Given the description of an element on the screen output the (x, y) to click on. 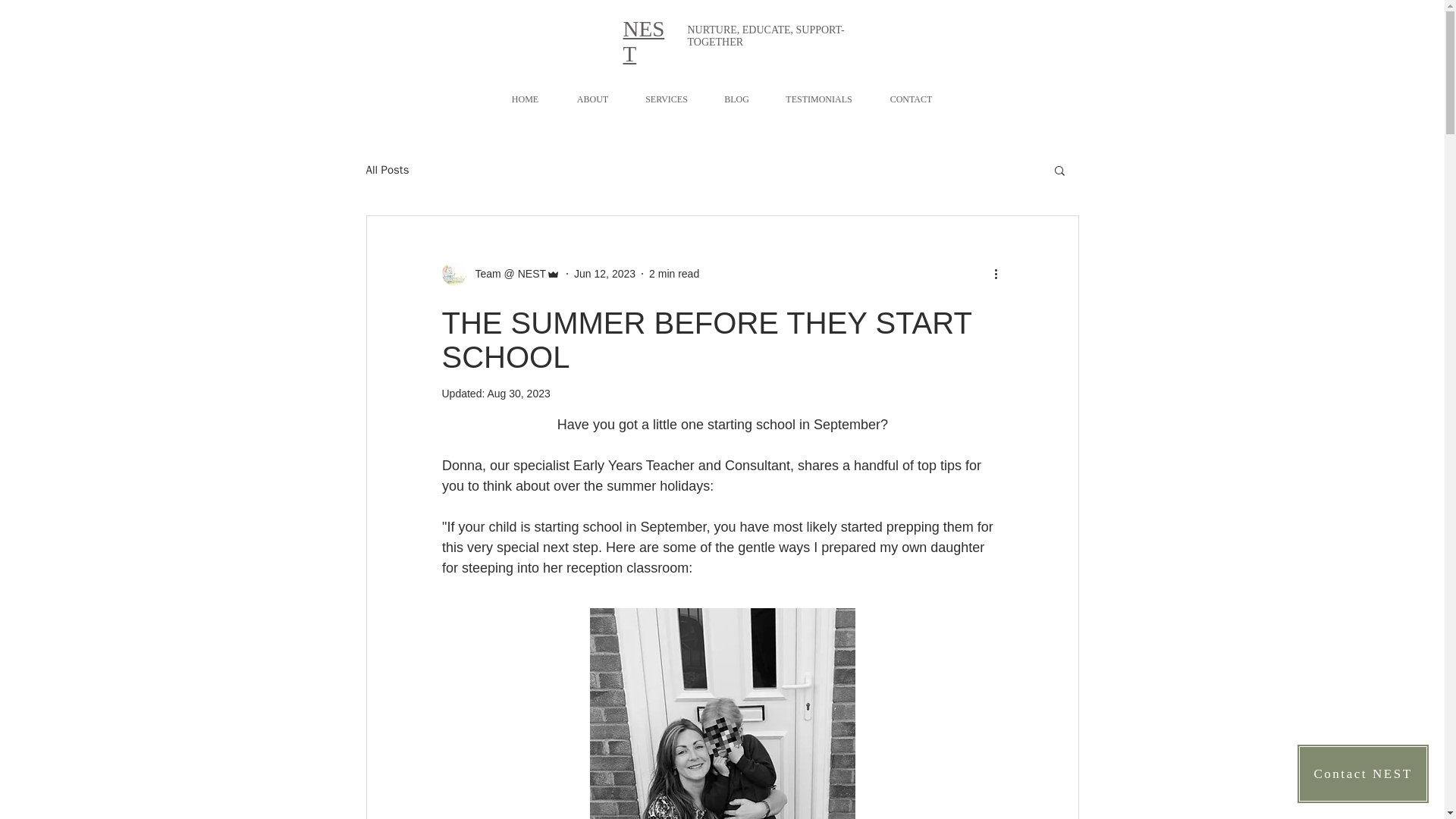
HOME (525, 99)
Jun 12, 2023 (603, 272)
ABOUT (592, 99)
SERVICES (666, 99)
TESTIMONIALS (818, 99)
Contact NEST (1363, 773)
Aug 30, 2023 (518, 393)
All Posts (387, 169)
CONTACT (911, 99)
2 min read (673, 272)
BLOG (735, 99)
